Given the description of an element on the screen output the (x, y) to click on. 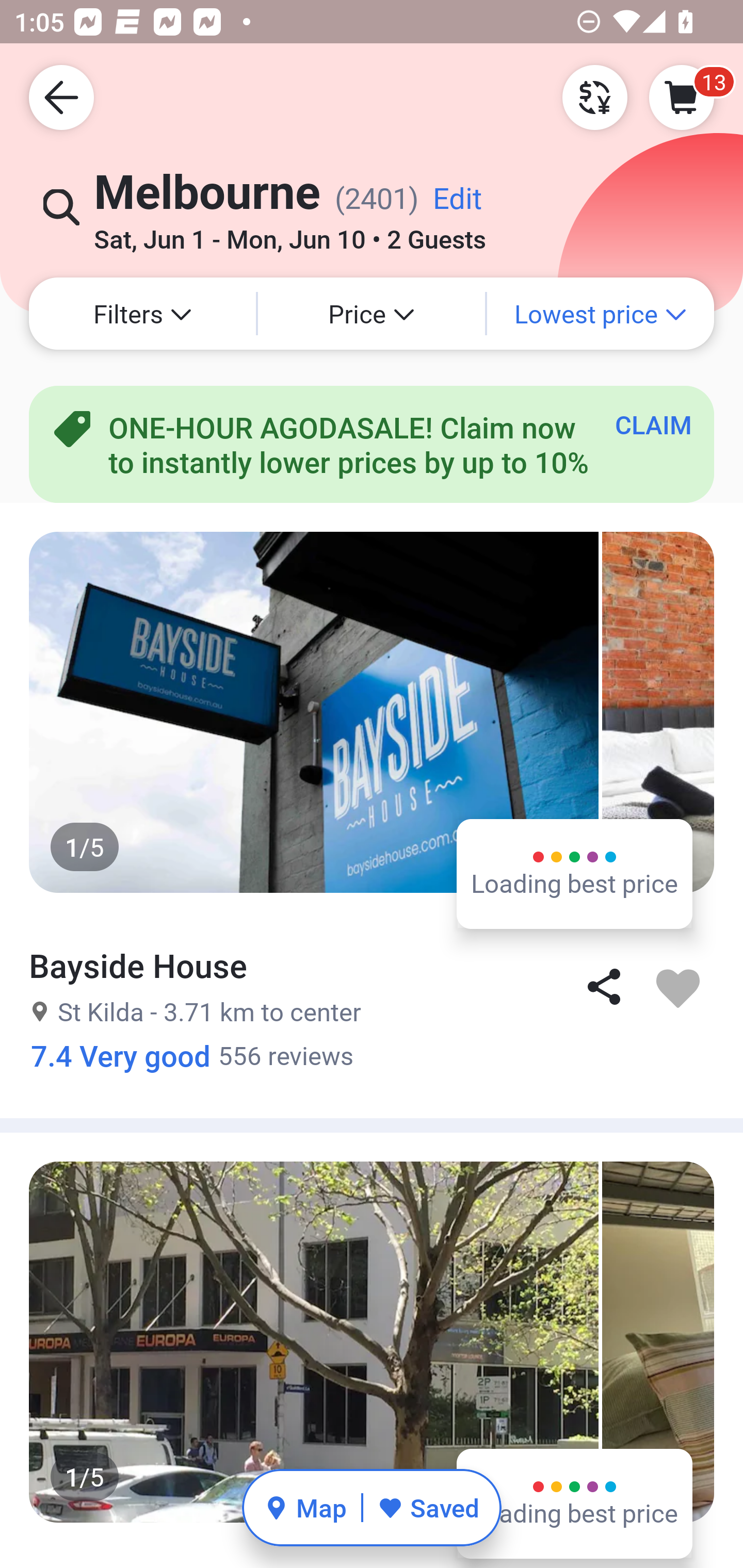
Edit (457, 205)
Sat, Jun 1 - Mon, Jun 10 • 2 Guests (289, 232)
Filters (141, 313)
Price (371, 313)
Lowest price (600, 313)
CLAIM (653, 424)
1/5 (371, 711)
Loading best price (574, 873)
1/5 (371, 1341)
Loading best price (574, 1503)
Map (305, 1507)
Saved (428, 1507)
